Given the description of an element on the screen output the (x, y) to click on. 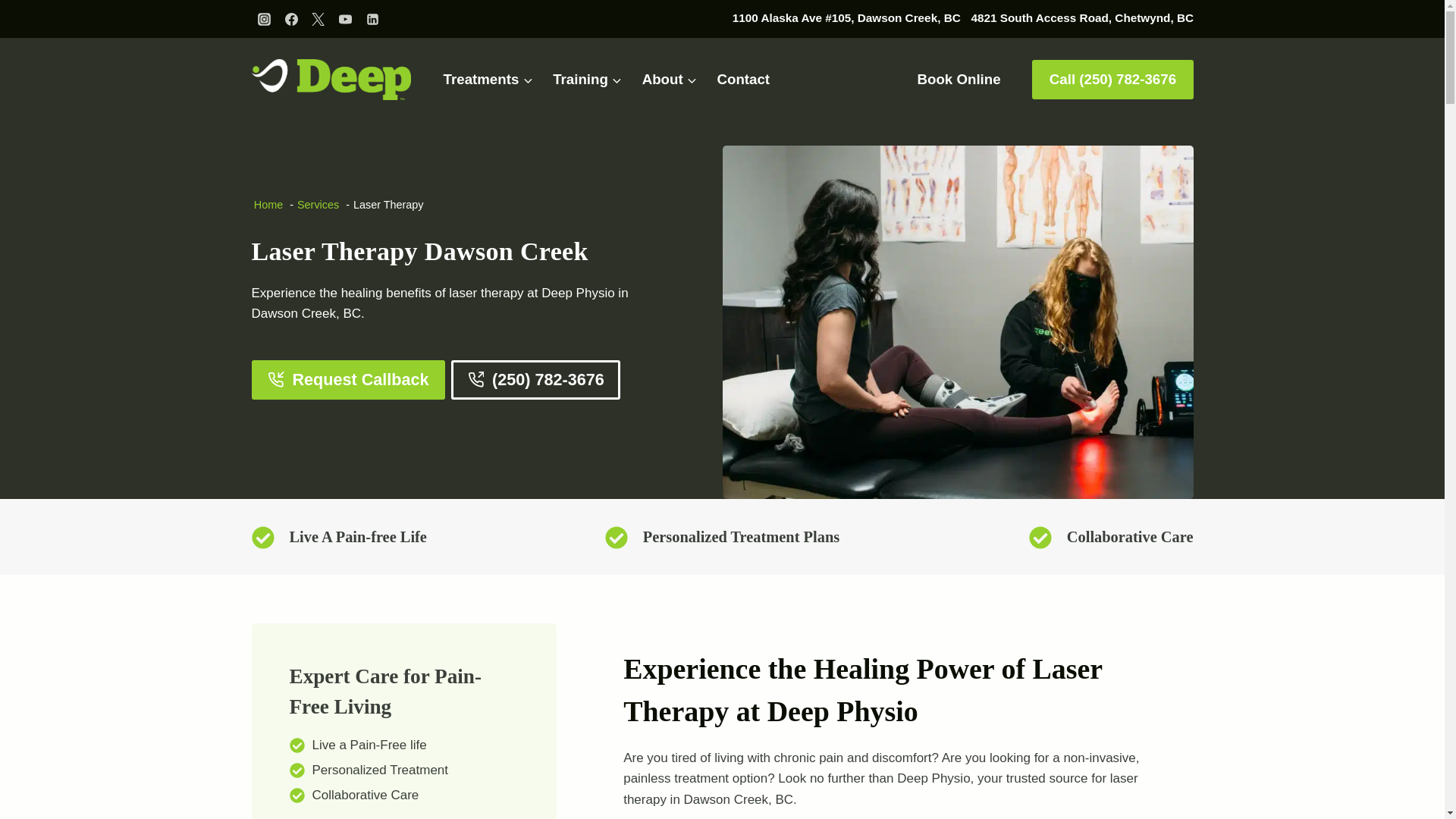
4821 South Access Road, Chetwynd, BC (1080, 18)
Contact (742, 79)
Treatments (488, 79)
Home (267, 204)
About (669, 79)
Training (587, 79)
Services (318, 204)
Book Online (958, 79)
Request Callback (348, 379)
